Given the description of an element on the screen output the (x, y) to click on. 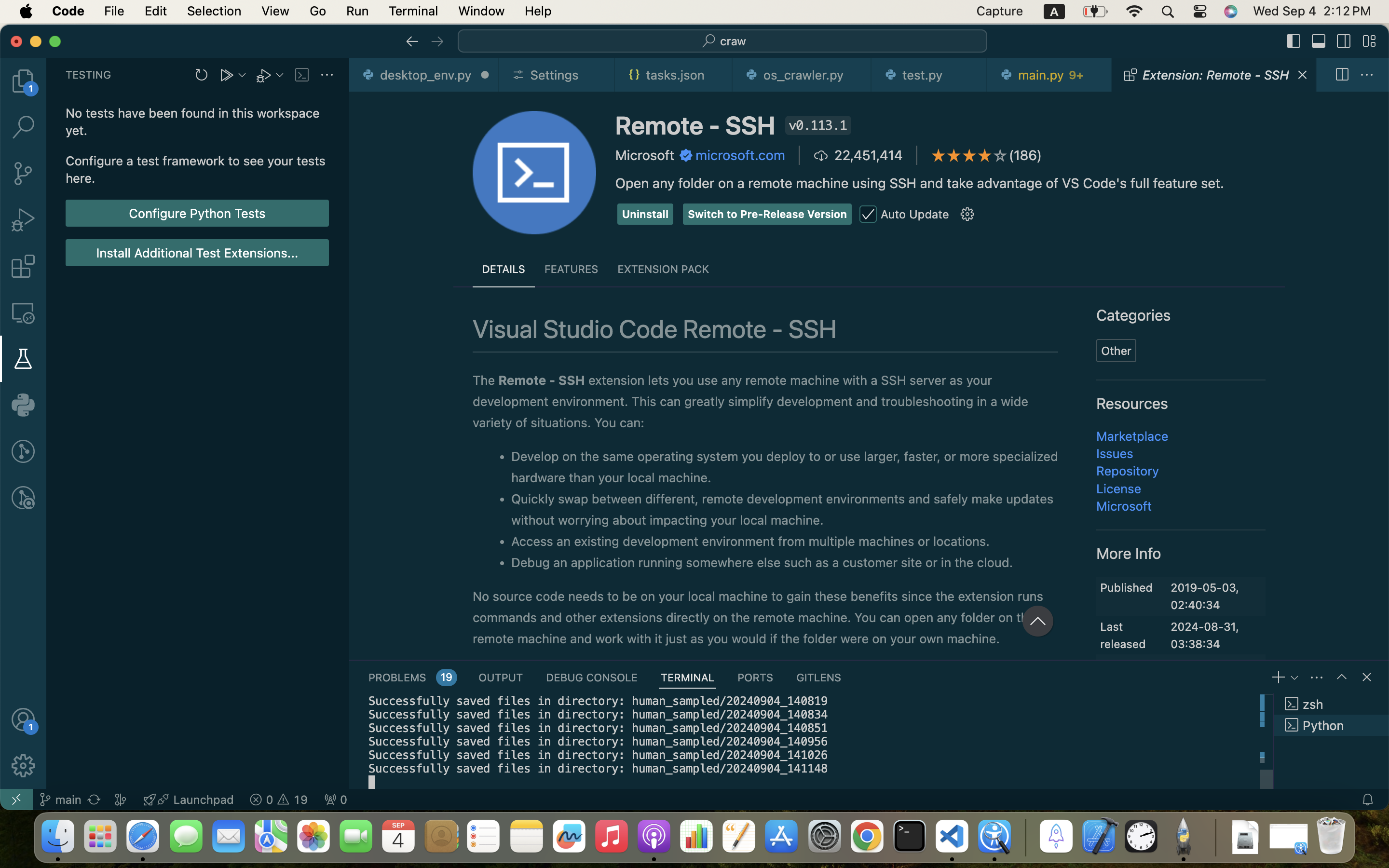
2024-08-31, 03:38:34 Element type: AXStaticText (1205, 635)
0 GITLENS Element type: AXRadioButton (819, 676)
 Element type: AXCheckBox (1341, 676)
 Element type: AXStaticText (686, 154)
2019-05-03, 02:40:34 Element type: AXStaticText (1205, 596)
